Given the description of an element on the screen output the (x, y) to click on. 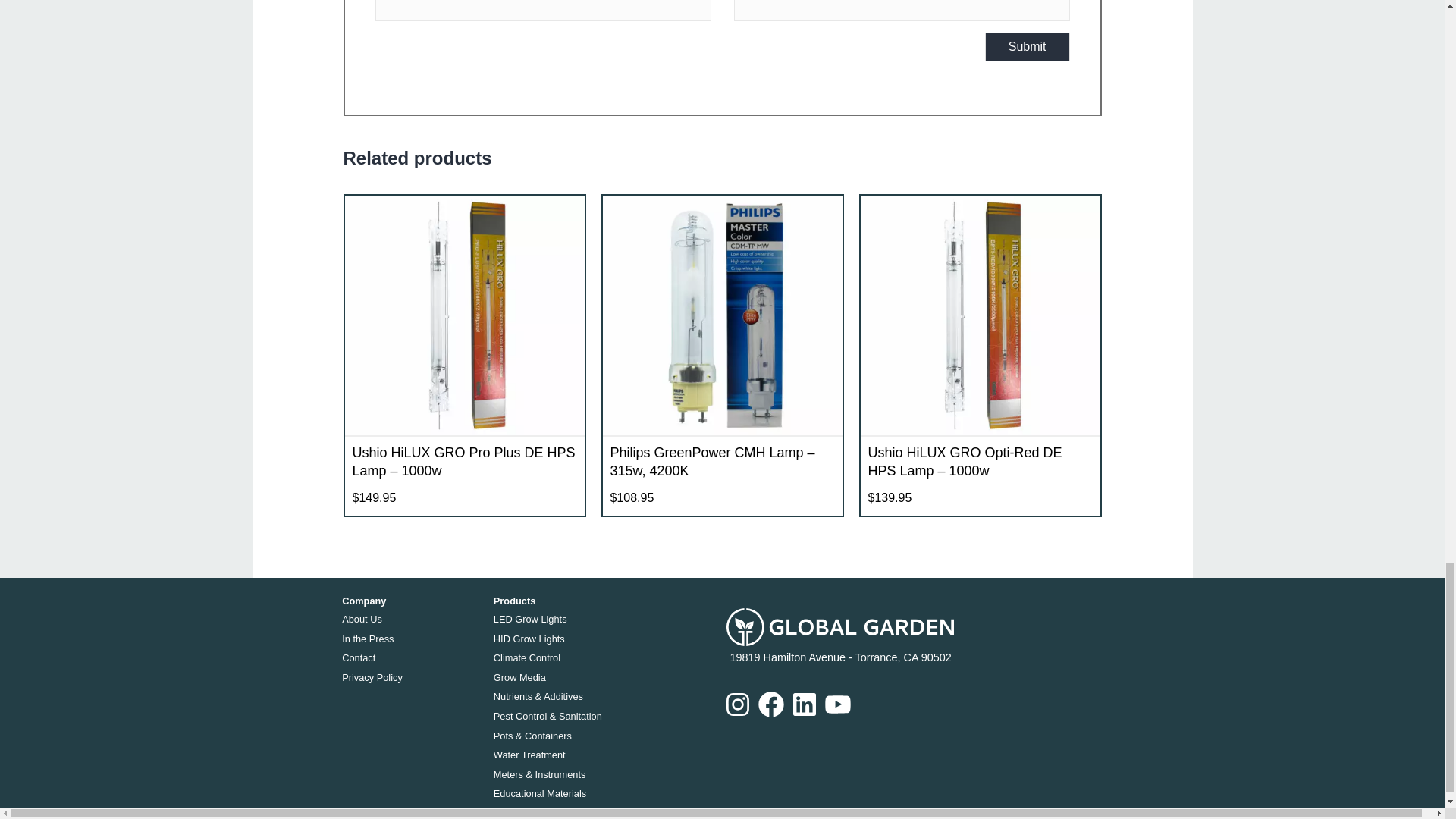
Submit (1027, 46)
